Given the description of an element on the screen output the (x, y) to click on. 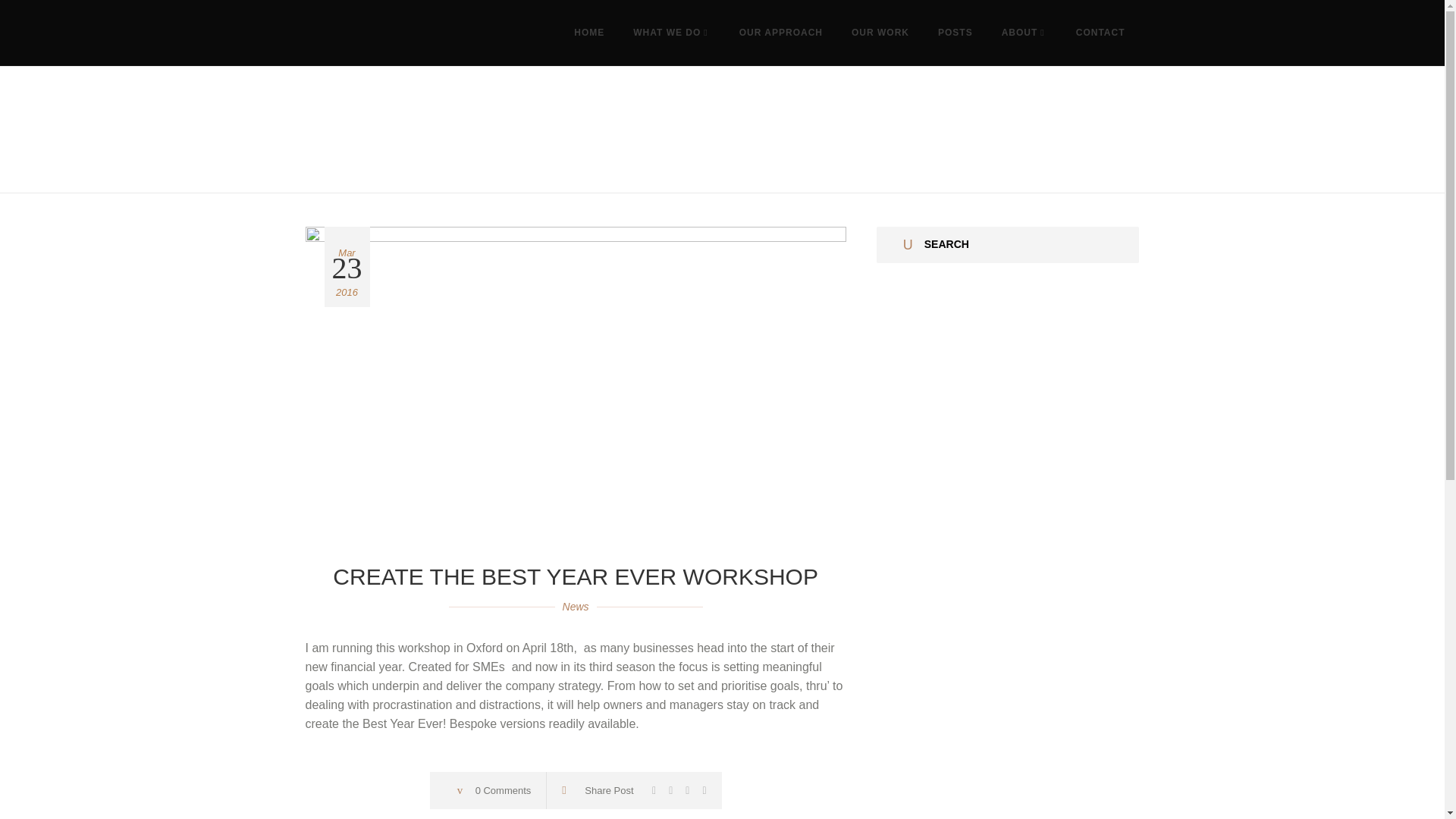
News (575, 606)
WHAT WE DO (671, 33)
CONTACT (1100, 33)
HOME (588, 33)
POSTS (955, 33)
ABOUT (1024, 33)
OUR WORK (880, 33)
OUR APPROACH (781, 33)
0 Comments (503, 790)
